Given the description of an element on the screen output the (x, y) to click on. 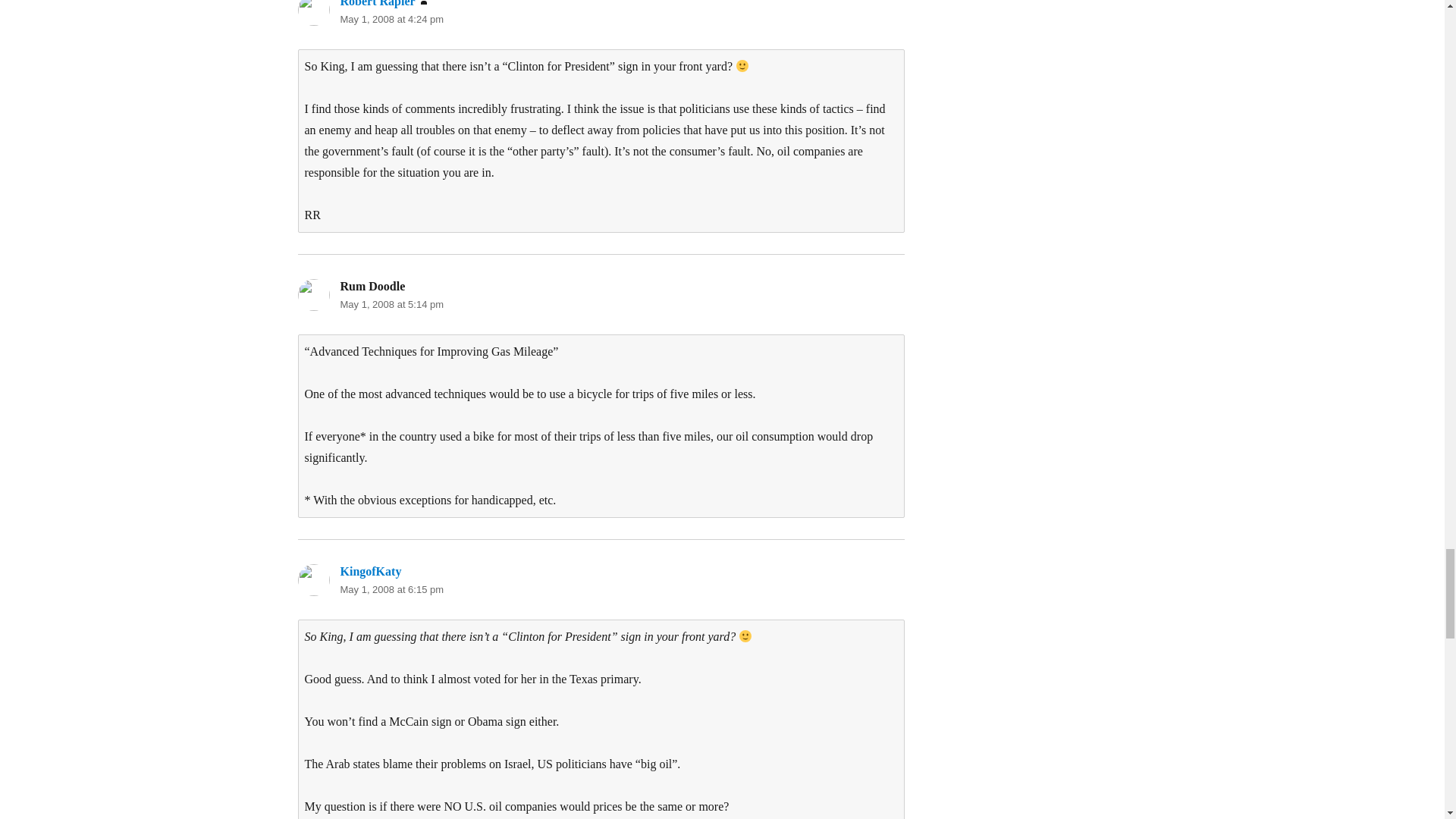
May 1, 2008 at 4:24 pm (391, 19)
May 1, 2008 at 6:15 pm (391, 589)
KingofKaty (370, 571)
May 1, 2008 at 5:14 pm (391, 304)
Robert Rapier (376, 3)
